Given the description of an element on the screen output the (x, y) to click on. 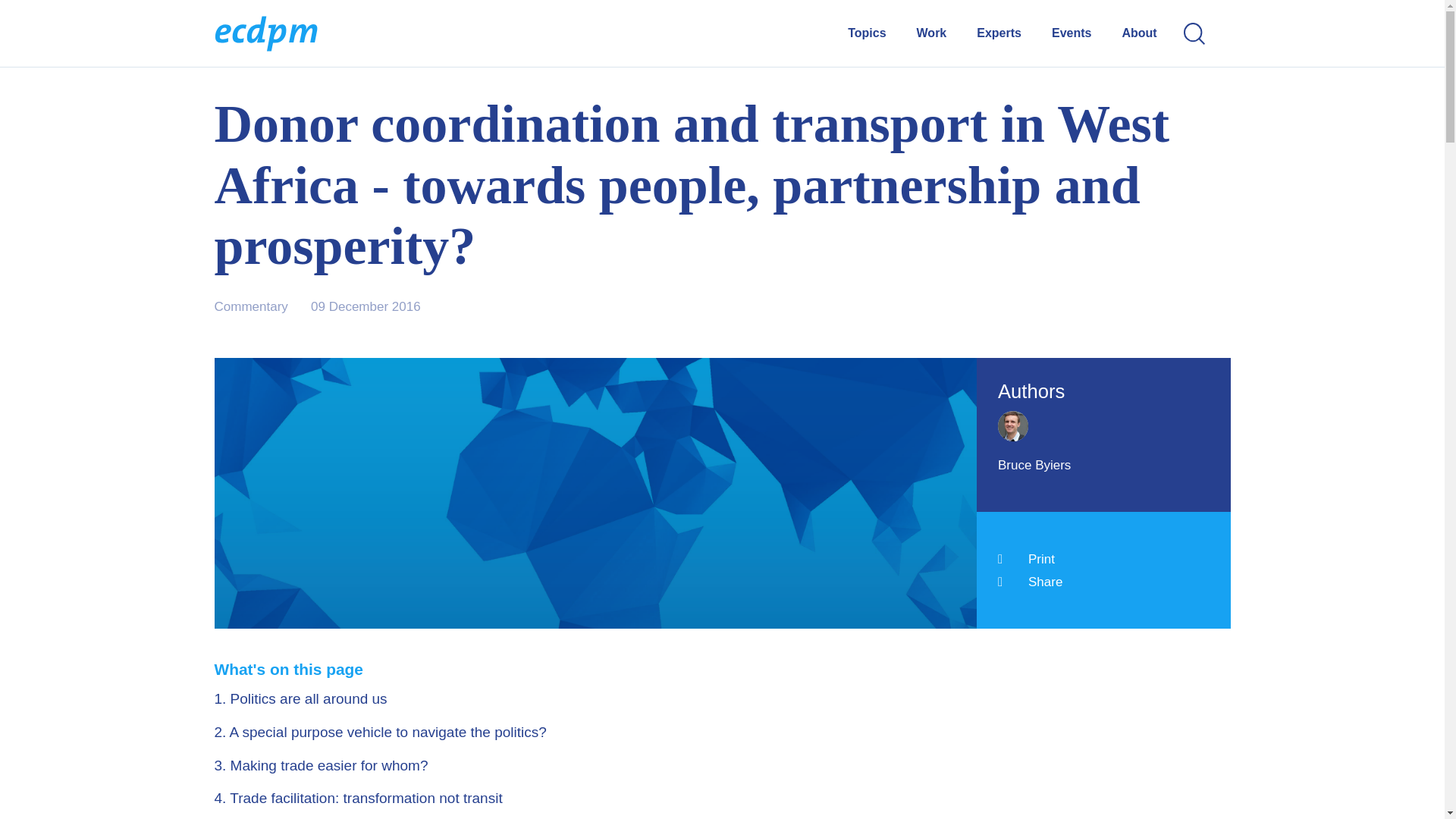
Events (1071, 32)
Topics (866, 32)
Experts (999, 32)
Work (931, 32)
About (1138, 32)
